Given the description of an element on the screen output the (x, y) to click on. 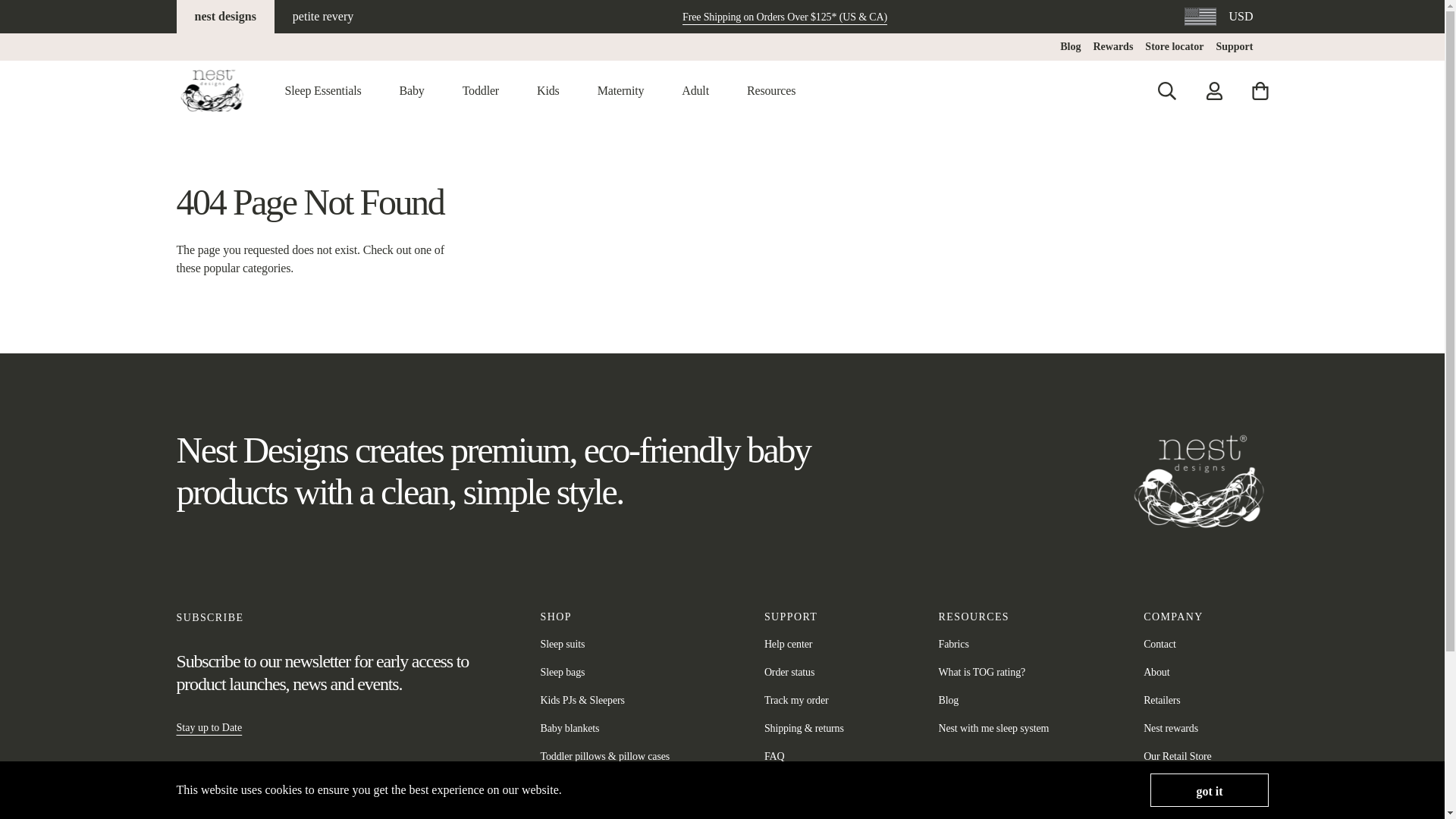
USD (1218, 16)
petite revery (323, 16)
Store locator (1174, 46)
nest designs (224, 16)
Blog (1069, 46)
Support (1233, 46)
Baby (410, 90)
Sleep Essentials (323, 90)
Rewards (1112, 46)
